Given the description of an element on the screen output the (x, y) to click on. 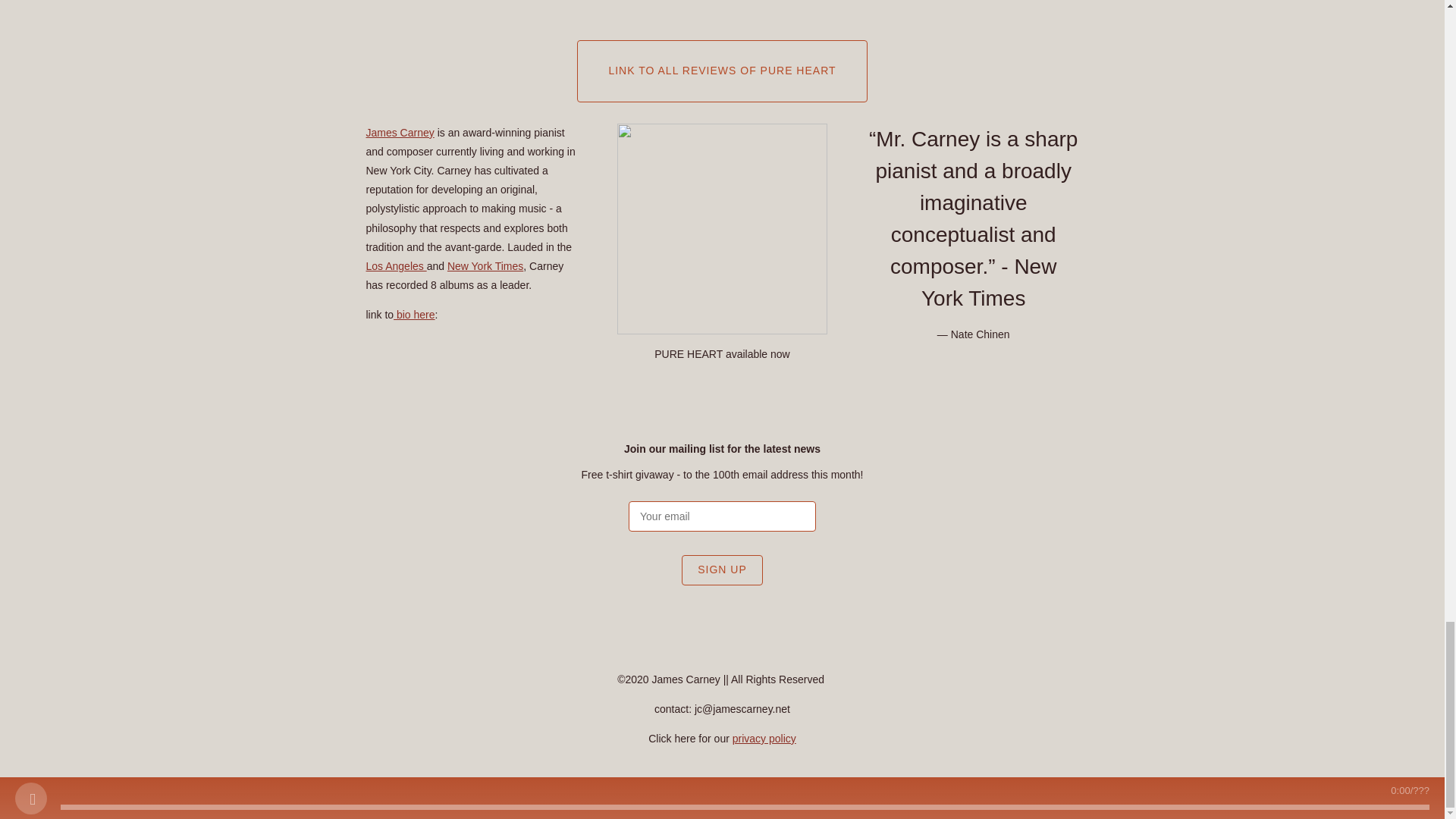
Los Angeles (395, 265)
bio here (413, 314)
James Carney (399, 132)
LINK TO ALL REVIEWS OF PURE HEART (721, 71)
New York Times (484, 265)
